Given the description of an element on the screen output the (x, y) to click on. 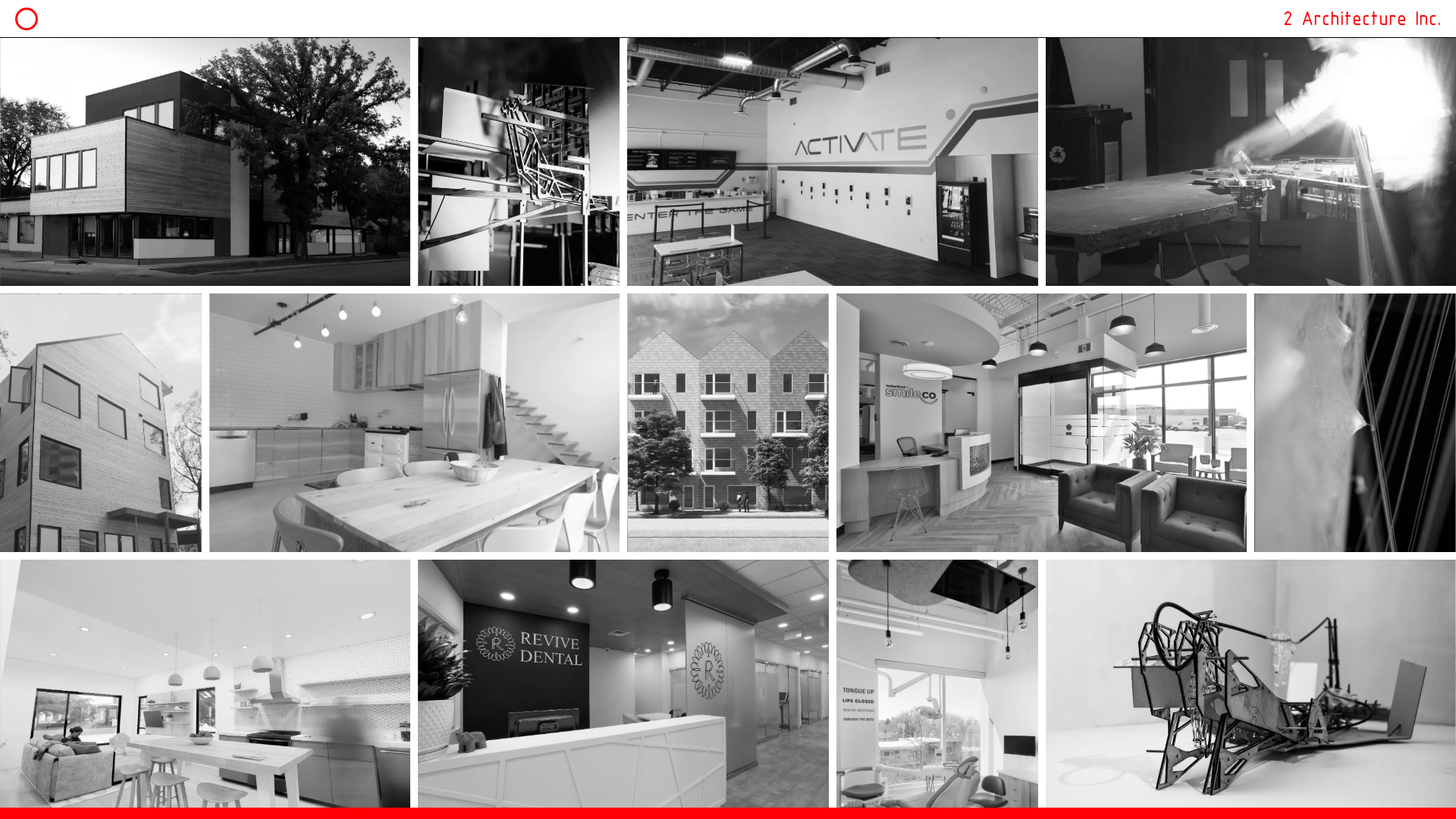
2 Architecture Inc. Element type: text (1361, 18)
